Given the description of an element on the screen output the (x, y) to click on. 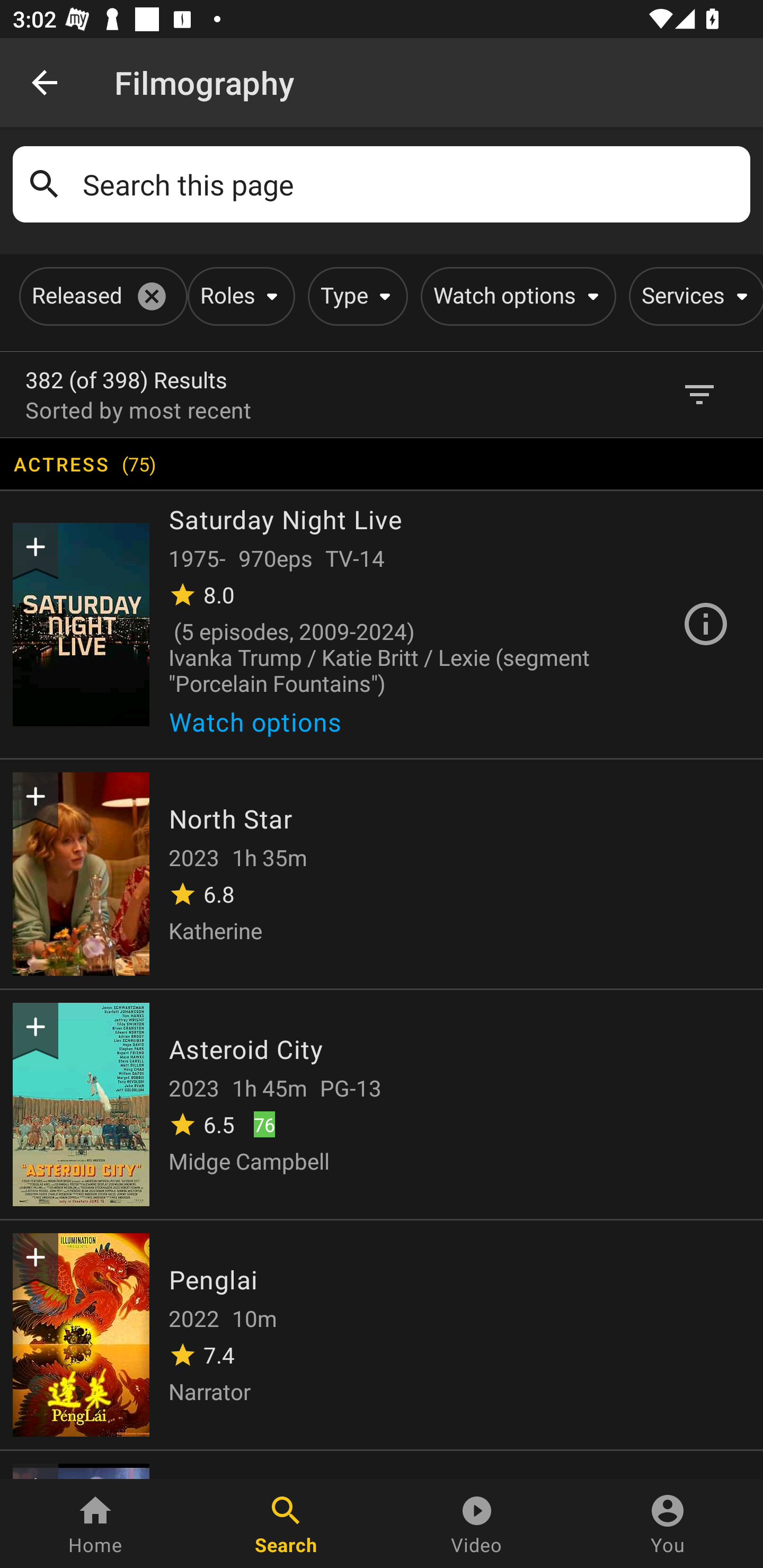
Search this page (410, 184)
Released (100, 296)
Roles (237, 296)
Type (354, 296)
Watch options (514, 296)
Services (693, 296)
Watch options (261, 727)
North Star 2023 1h 35m 6.8 Katherine (381, 872)
Penglai 2022 10m 7.4 Narrator (381, 1333)
Home (95, 1523)
Video (476, 1523)
You (667, 1523)
